Given the description of an element on the screen output the (x, y) to click on. 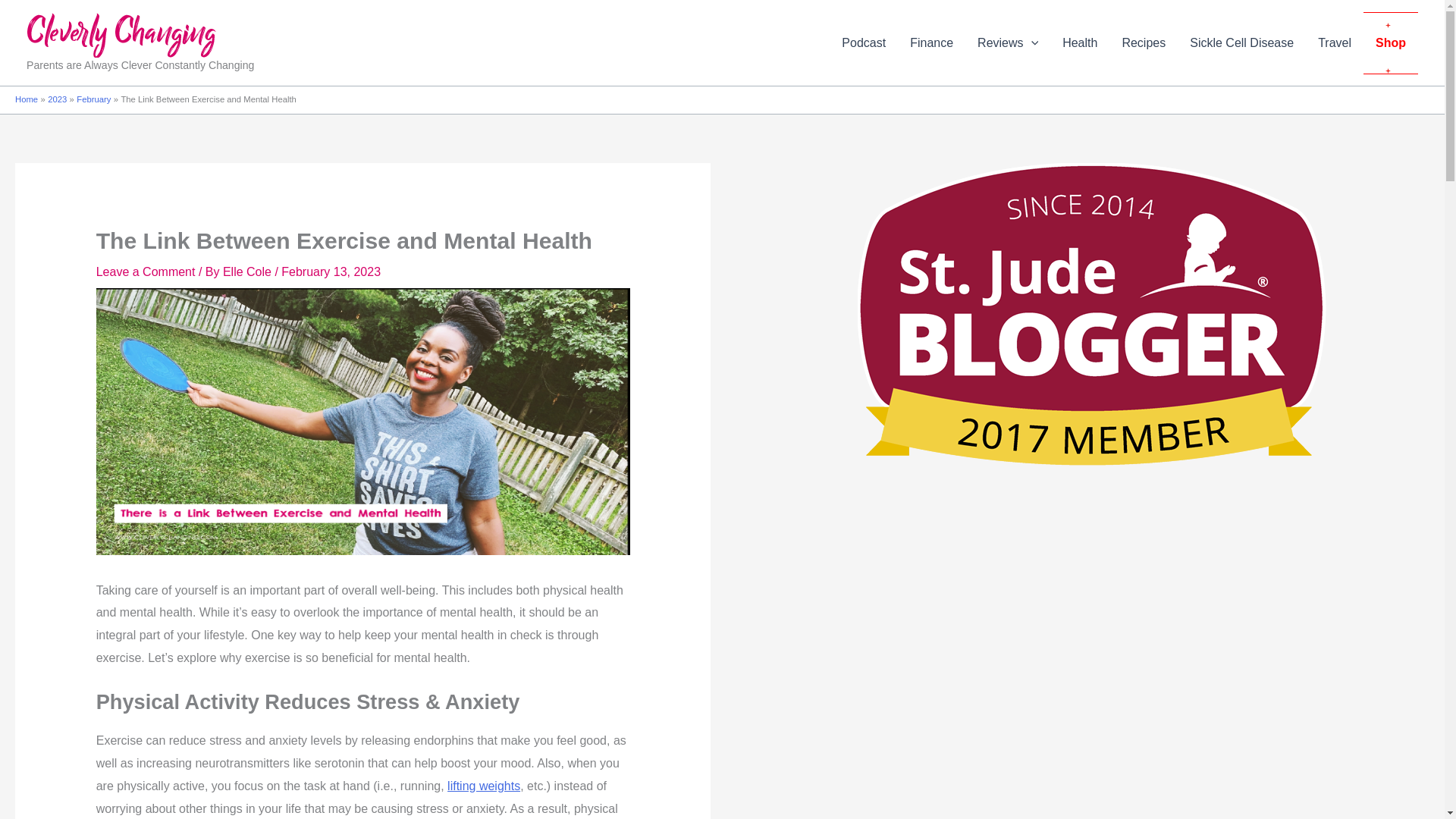
Finance (931, 43)
Travel (1334, 43)
Elle Cole (248, 271)
Recipes (1143, 43)
Shop (1390, 43)
2023 (57, 99)
St. Jude (1092, 313)
Sickle Cell Disease (1241, 43)
Home (25, 99)
Shop (1390, 43)
View all posts by Elle Cole (248, 271)
Cleverly Changing Podcast (863, 43)
February (93, 99)
lifting weights (482, 785)
Leave a Comment (145, 271)
